Given the description of an element on the screen output the (x, y) to click on. 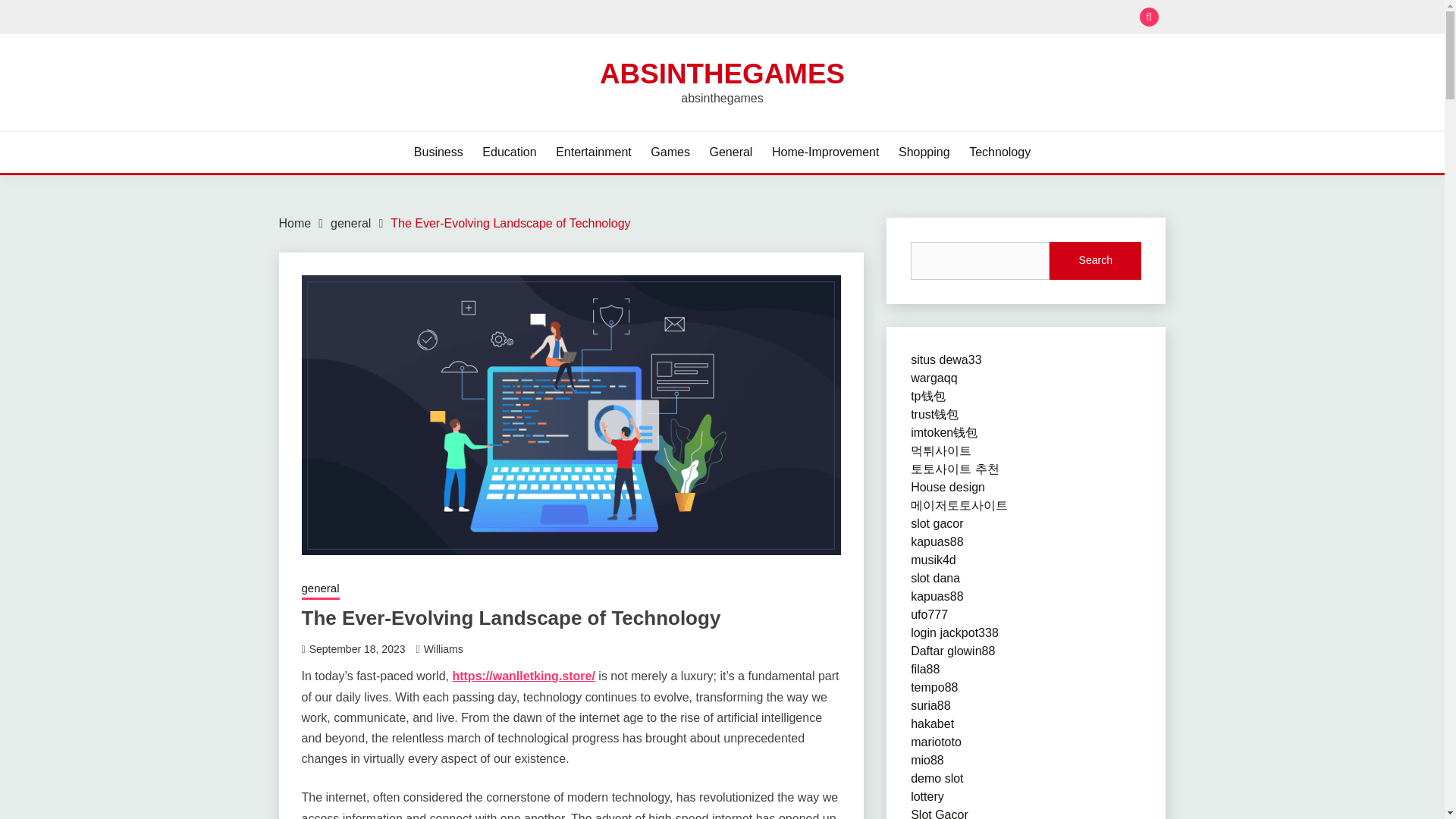
Business (438, 152)
Search (832, 18)
Shopping (924, 152)
General (731, 152)
general (350, 223)
Home (295, 223)
Home-Improvement (825, 152)
Education (508, 152)
Technology (999, 152)
general (320, 589)
Search (1095, 260)
Games (670, 152)
ABSINTHEGAMES (721, 73)
situs dewa33 (946, 359)
Williams (443, 648)
